Given the description of an element on the screen output the (x, y) to click on. 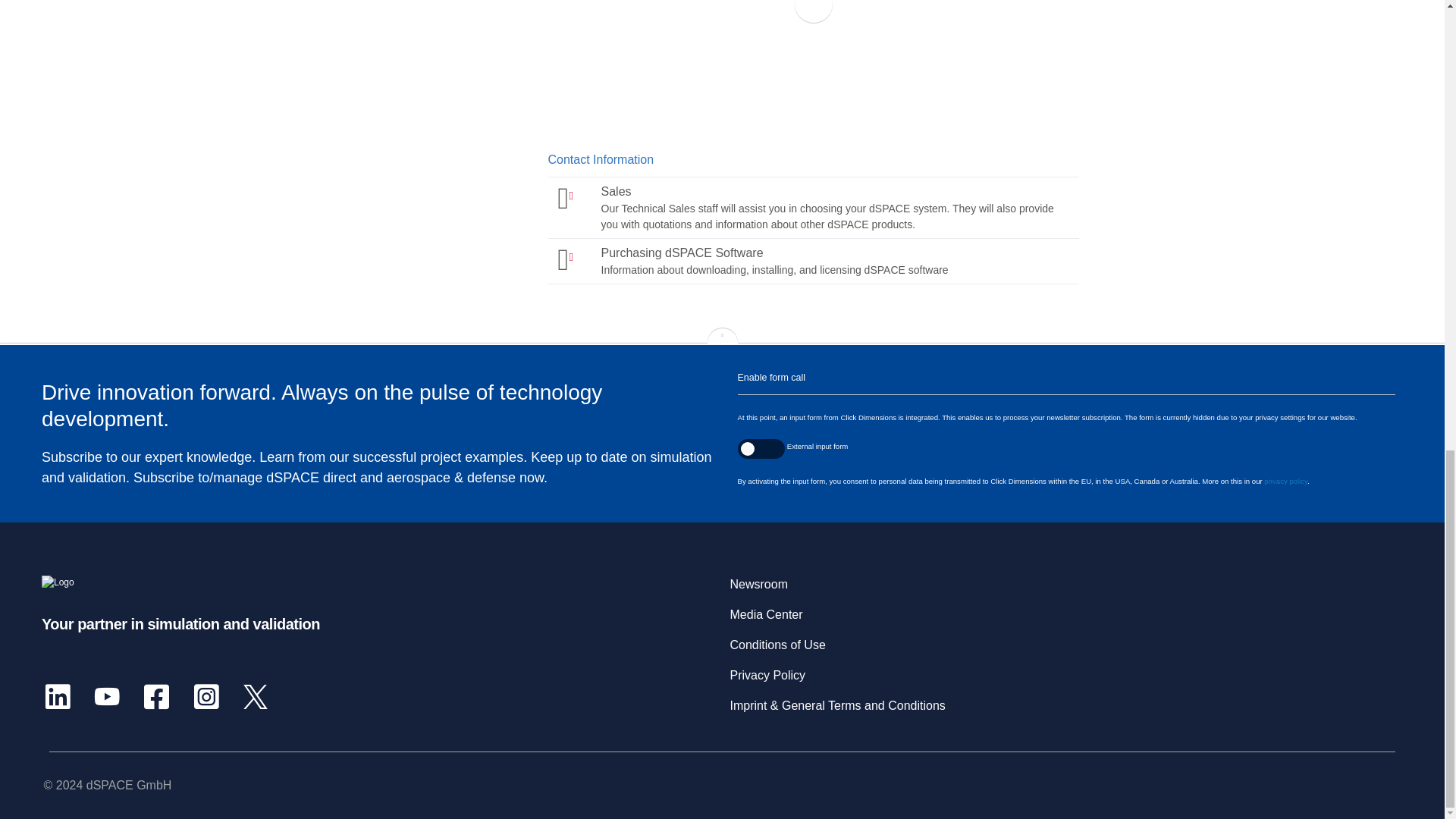
Newsroom (758, 584)
Purchasing dSPACE Software (812, 261)
privacy policy (1285, 480)
Sales (812, 63)
Media Center (812, 207)
